Given the description of an element on the screen output the (x, y) to click on. 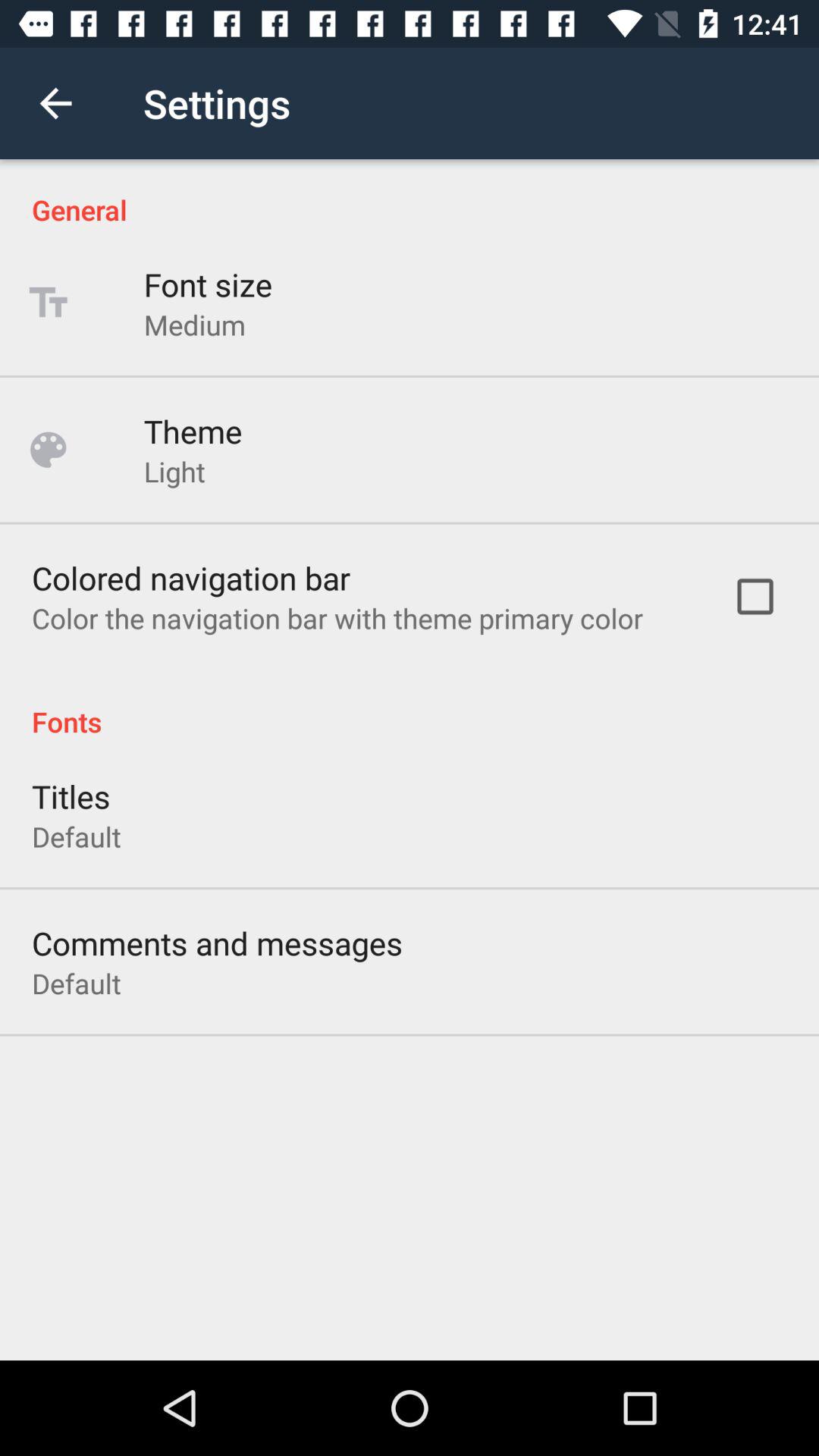
turn off icon below colored navigation bar item (337, 618)
